Given the description of an element on the screen output the (x, y) to click on. 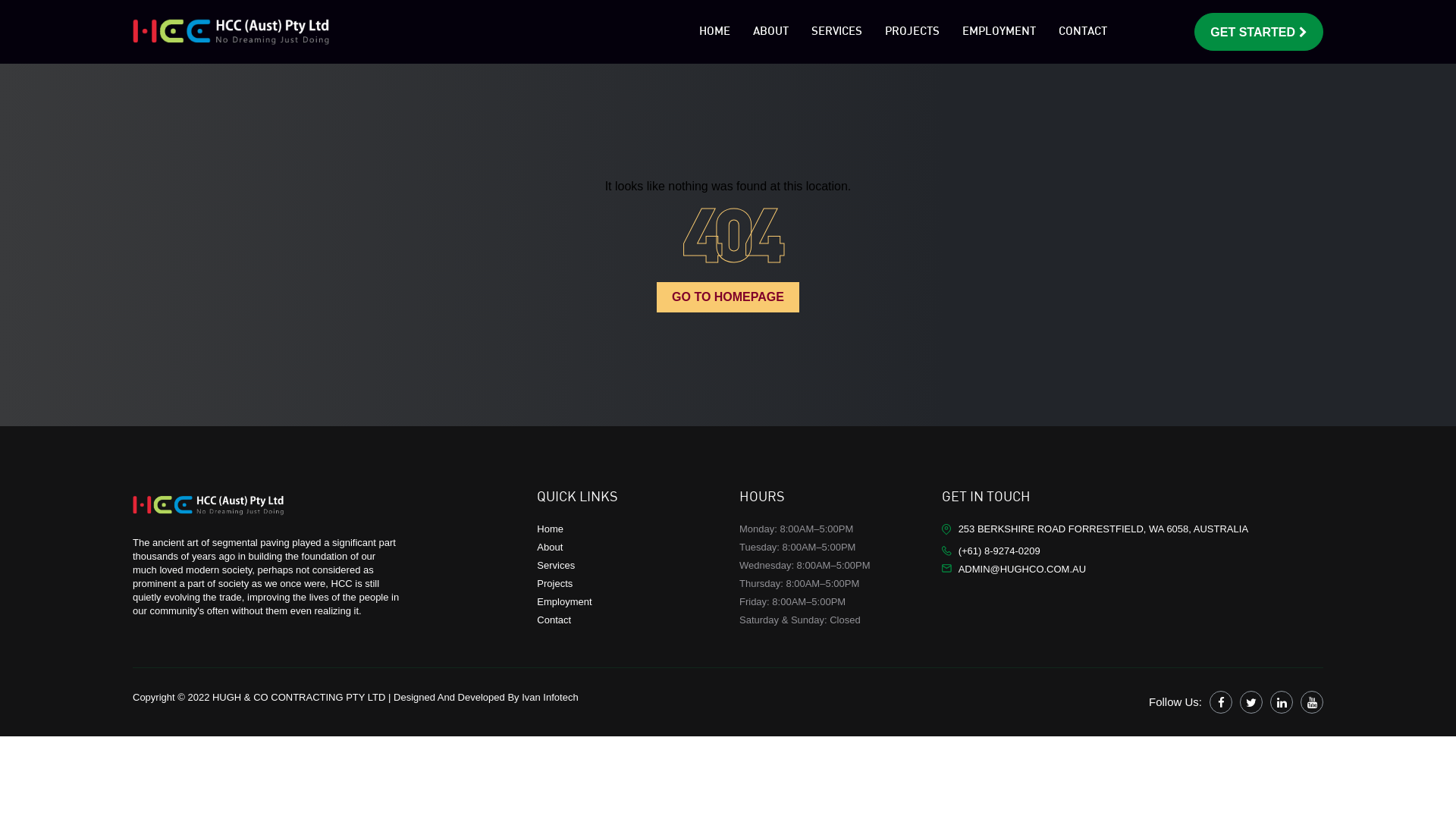
GO TO HOMEPAGE Element type: text (727, 297)
HCC (Aust) Pty Ltd Element type: hover (208, 505)
GET STARTED Element type: text (1258, 31)
ADMIN@HUGHCO.COM.AU Element type: text (1021, 568)
SERVICES Element type: text (836, 31)
HOME Element type: text (714, 31)
EMPLOYMENT Element type: text (998, 31)
CONTACT Element type: text (1082, 31)
Services Element type: text (555, 565)
Contact Element type: text (553, 619)
Projects Element type: text (554, 583)
Ivan Infotech Element type: text (549, 696)
(+61) 8-9274-0209 Element type: text (999, 550)
About Element type: text (549, 546)
ABOUT Element type: text (770, 31)
HCC (Aust) Pty Ltd Element type: hover (230, 31)
PROJECTS Element type: text (911, 31)
Employment Element type: text (563, 601)
Home Element type: text (549, 528)
